Given the description of an element on the screen output the (x, y) to click on. 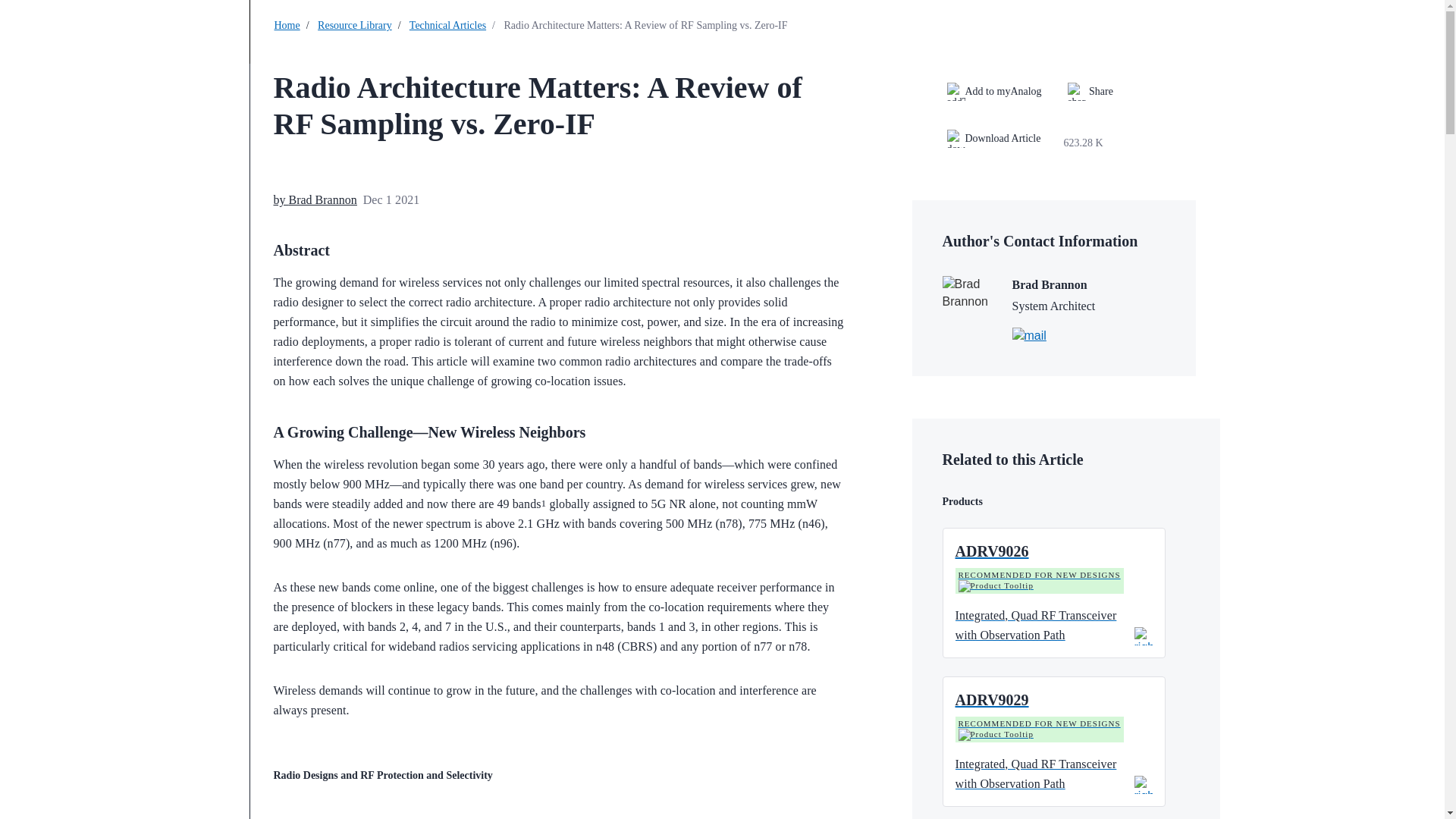
Brad Brannon (322, 199)
Technical Articles (447, 25)
Home (287, 25)
Share (1090, 91)
Resource Library (354, 25)
Download Article (993, 138)
Download Article (1002, 143)
Add to myAnalog (993, 91)
